Given the description of an element on the screen output the (x, y) to click on. 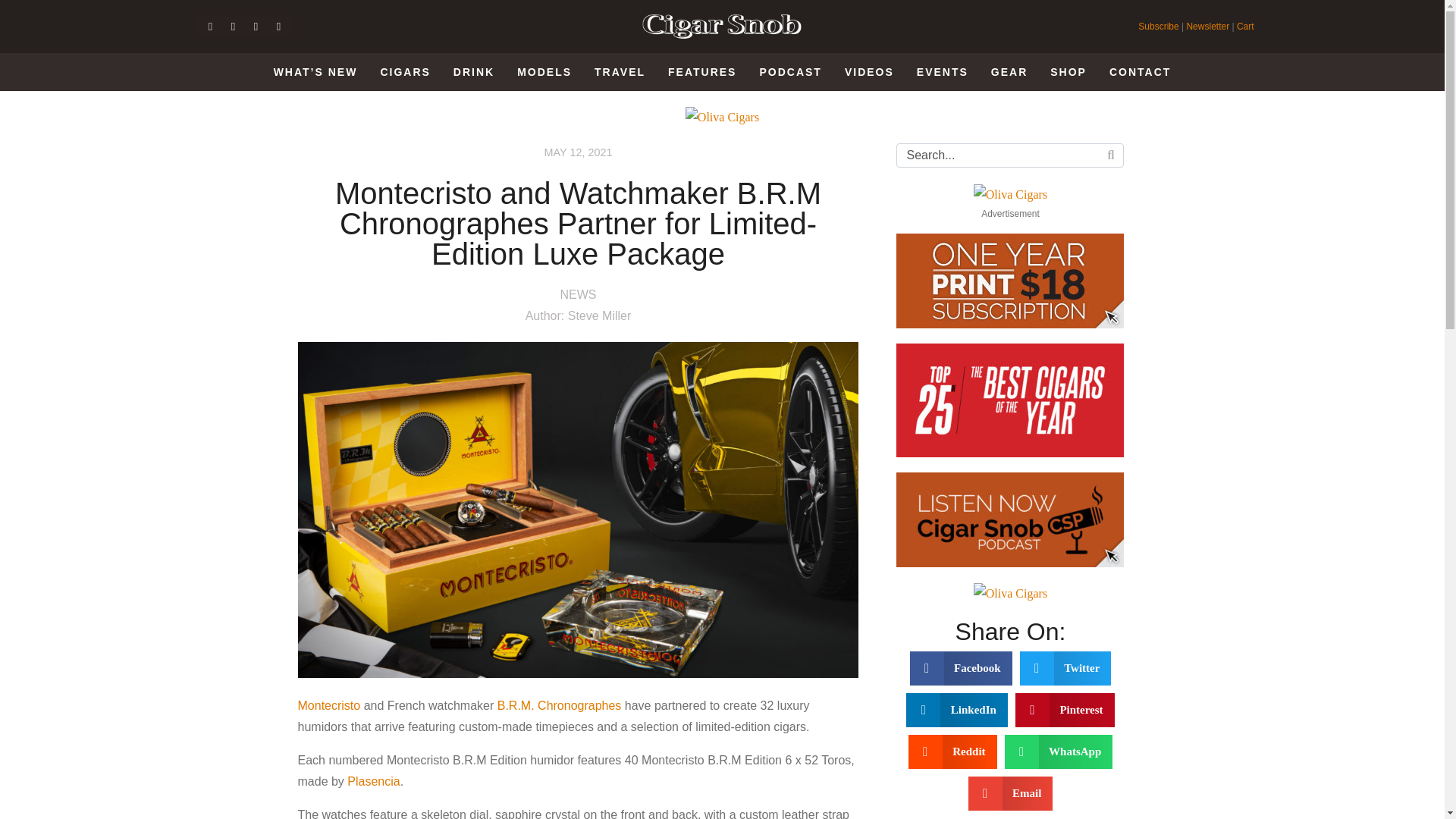
GEAR (1008, 71)
FEATURES (701, 71)
TRAVEL (620, 71)
MODELS (544, 71)
EVENTS (942, 71)
Cart (1244, 26)
VIDEOS (869, 71)
SHOP (1068, 71)
Oliva Cigars (1010, 194)
CIGARS (404, 71)
DRINK (473, 71)
Oliva Cigars (721, 117)
Subscribe (1159, 26)
Oliva Cigars (1010, 593)
Newsletter (1207, 26)
